Given the description of an element on the screen output the (x, y) to click on. 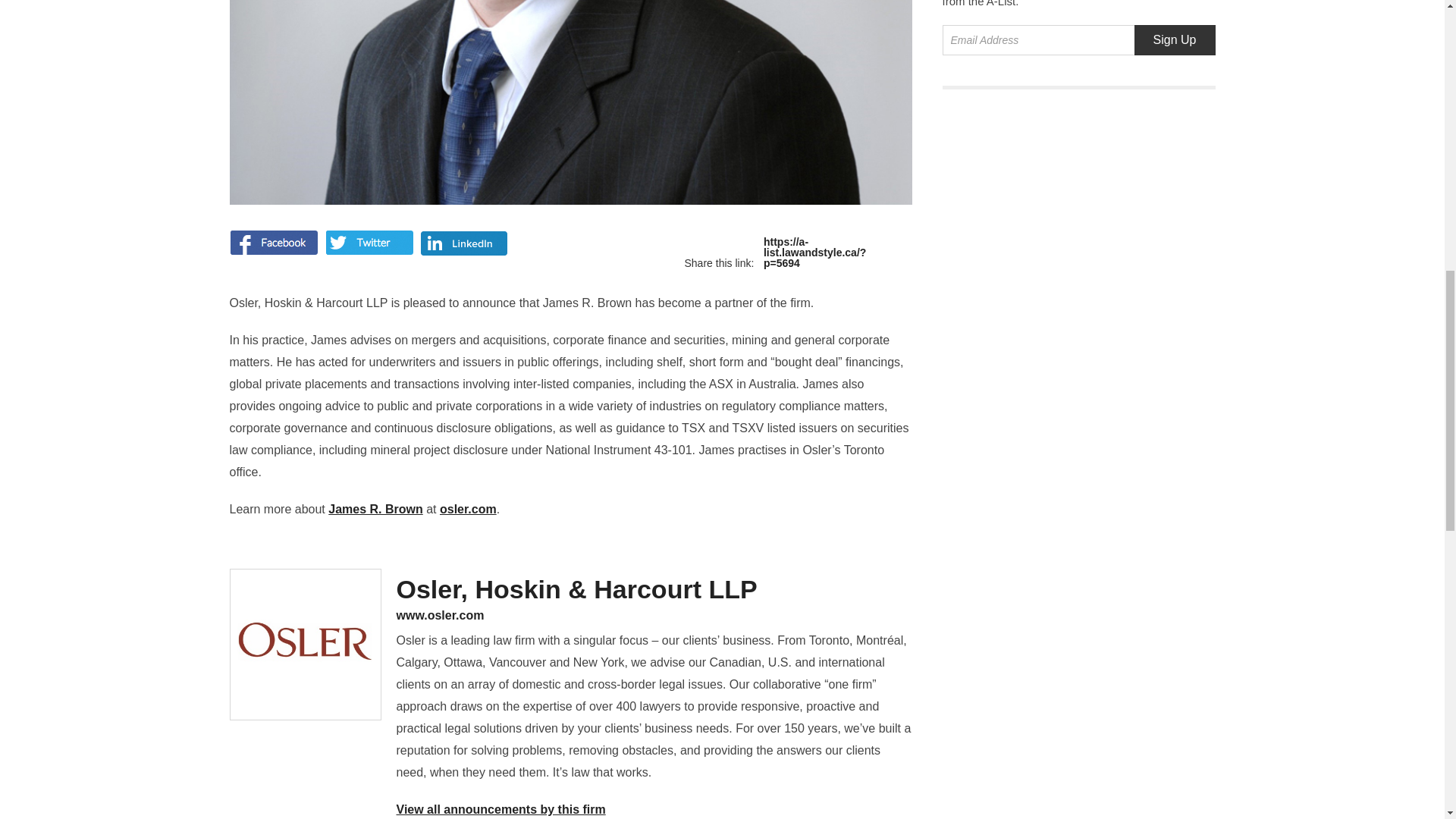
Osler announces new partner James R. Brown (801, 252)
View all announcements by this firm (500, 809)
Sign Up (1174, 40)
James R. Brown (375, 508)
osler.com (467, 508)
www.osler.com (653, 615)
